Given the description of an element on the screen output the (x, y) to click on. 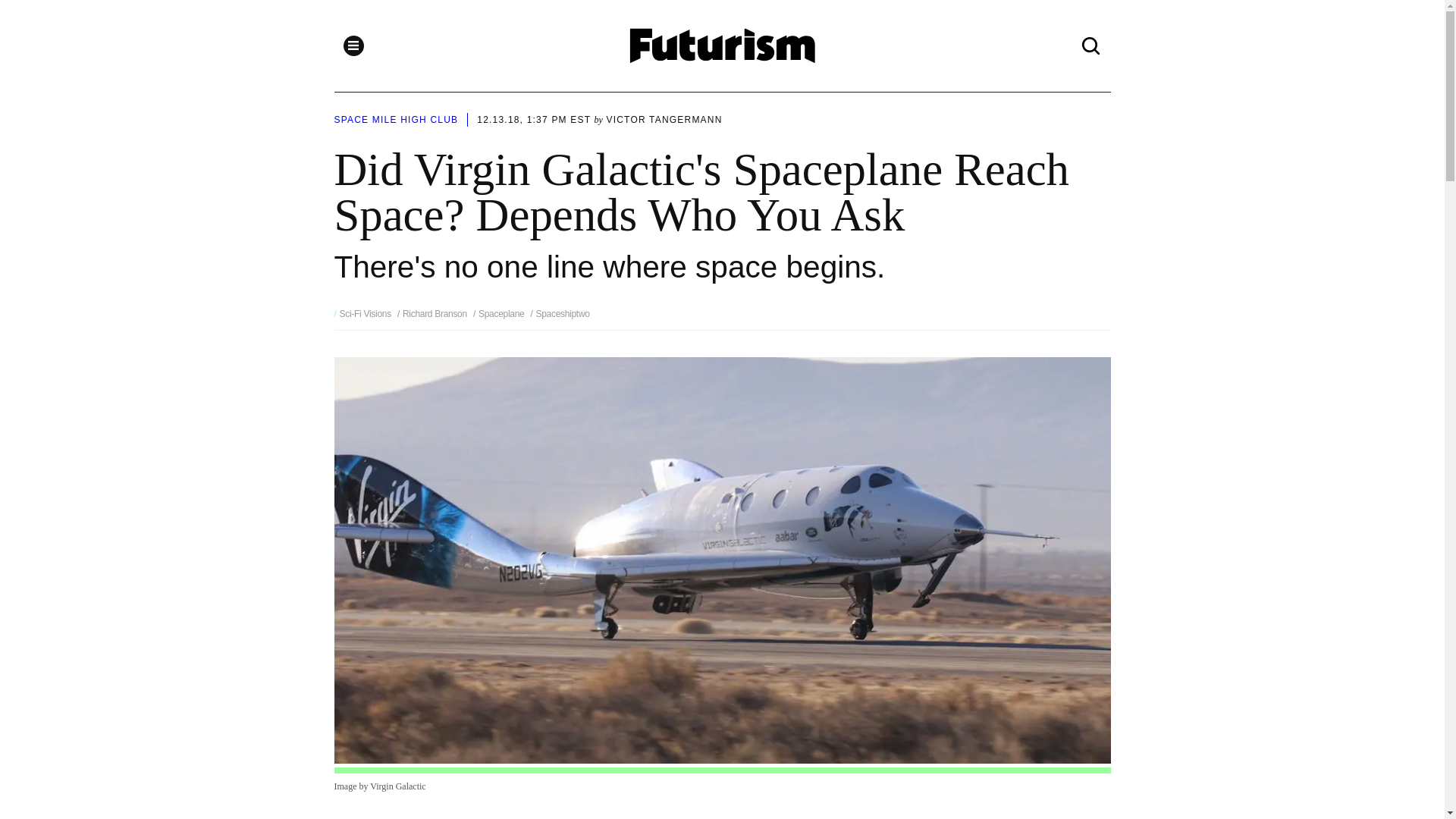
spaceshiptwo (559, 313)
richard branson (432, 313)
Spaceplane (498, 313)
Victor Tangermann (663, 119)
Sci-Fi Visions (365, 313)
Sci-Fi Visions (365, 313)
VICTOR TANGERMANN (663, 119)
Futurism (722, 45)
